Given the description of an element on the screen output the (x, y) to click on. 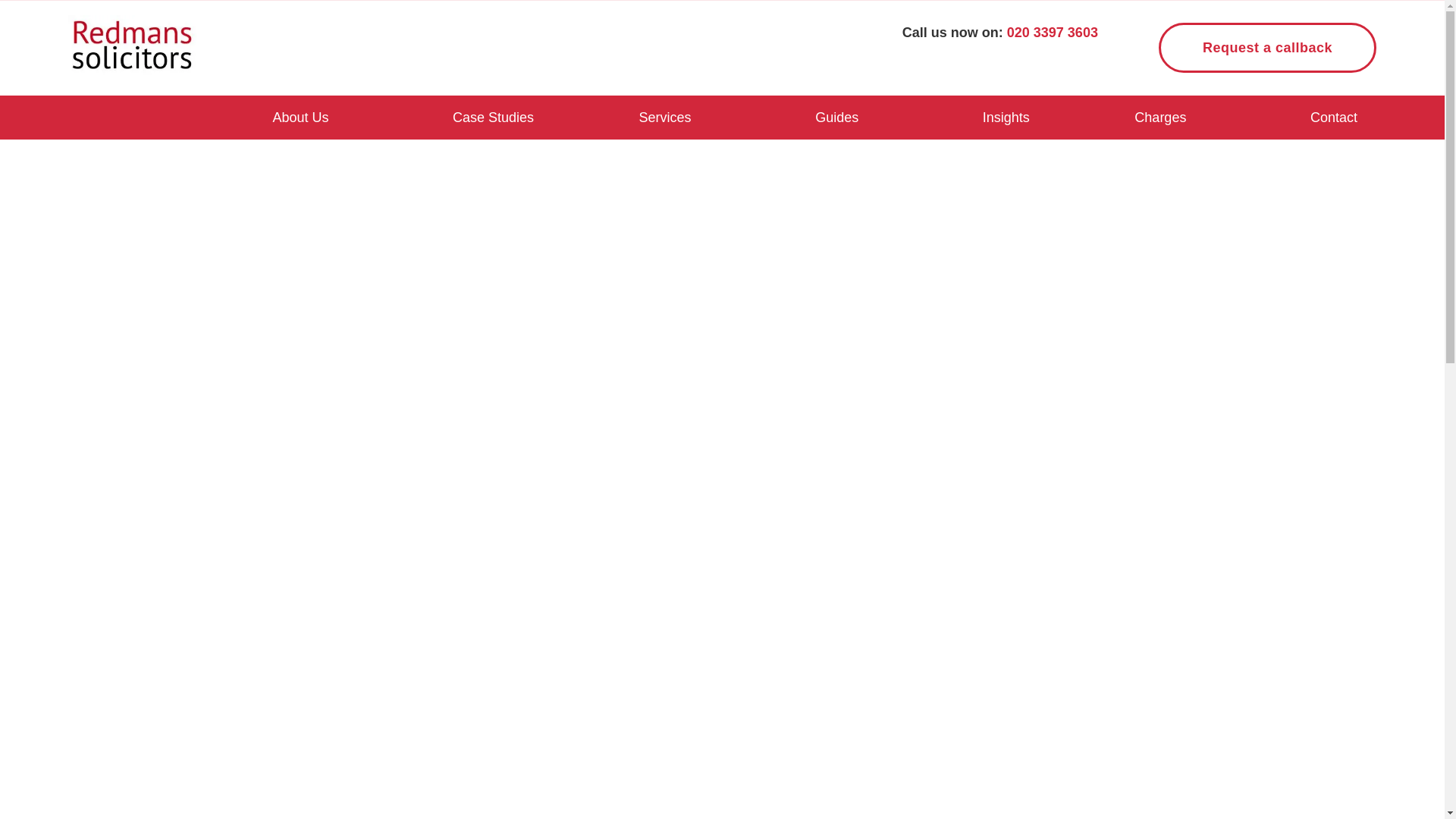
Request a callback (1266, 47)
Services (665, 117)
Charges (1160, 117)
Insights (1006, 117)
Request a callback (1266, 47)
redmans-logo (132, 45)
About Us (300, 117)
Guides (836, 117)
Contact (1334, 117)
Case Studies (493, 117)
